Given the description of an element on the screen output the (x, y) to click on. 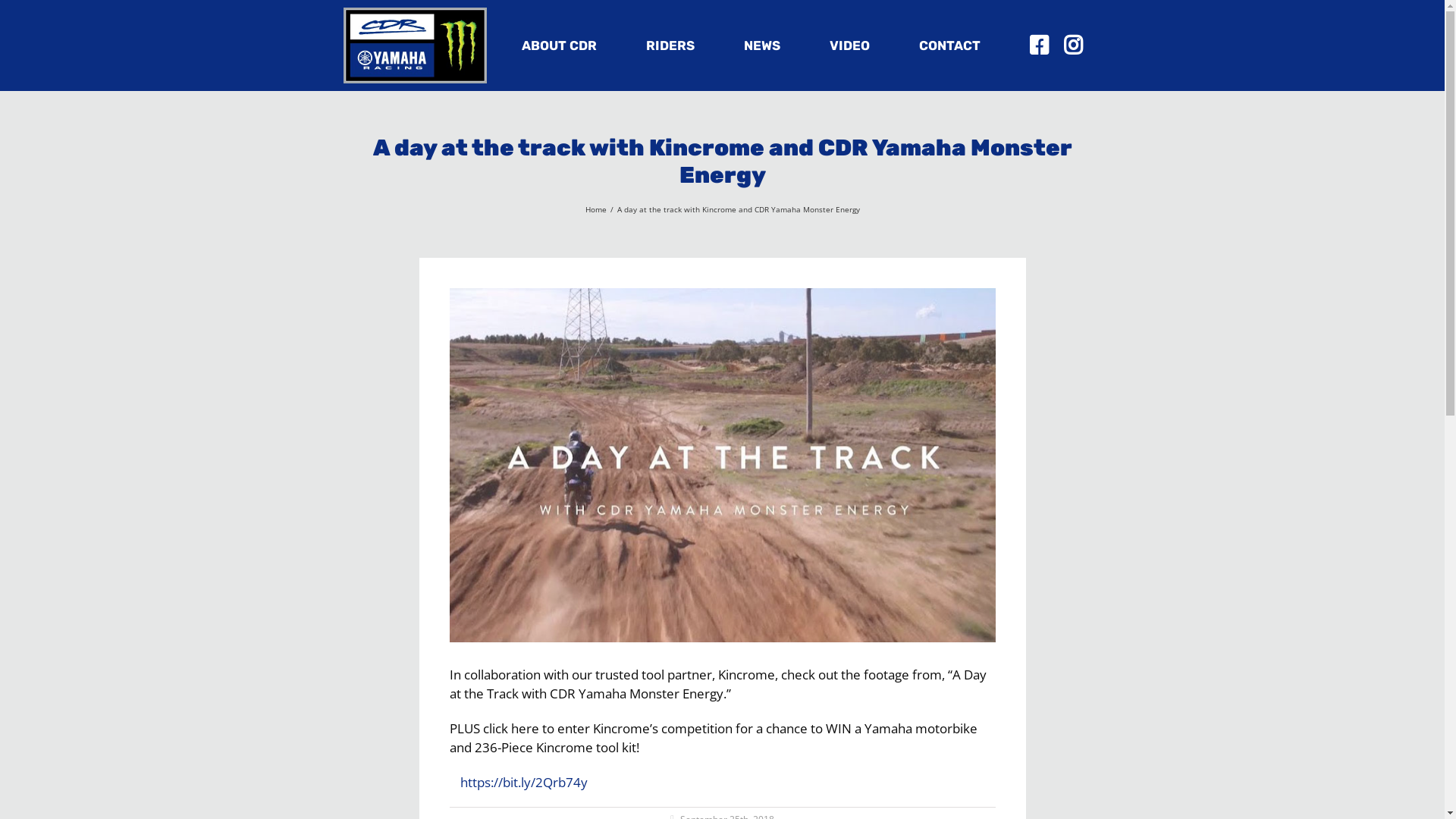
Home Element type: text (595, 208)
ABOUT CDR Element type: text (558, 45)
NEWS Element type: text (761, 45)
https://bit.ly/2Qrb74y Element type: text (522, 781)
RIDERS Element type: text (669, 45)
CONTACT Element type: text (949, 45)
VIDEO Element type: text (849, 45)
